Given the description of an element on the screen output the (x, y) to click on. 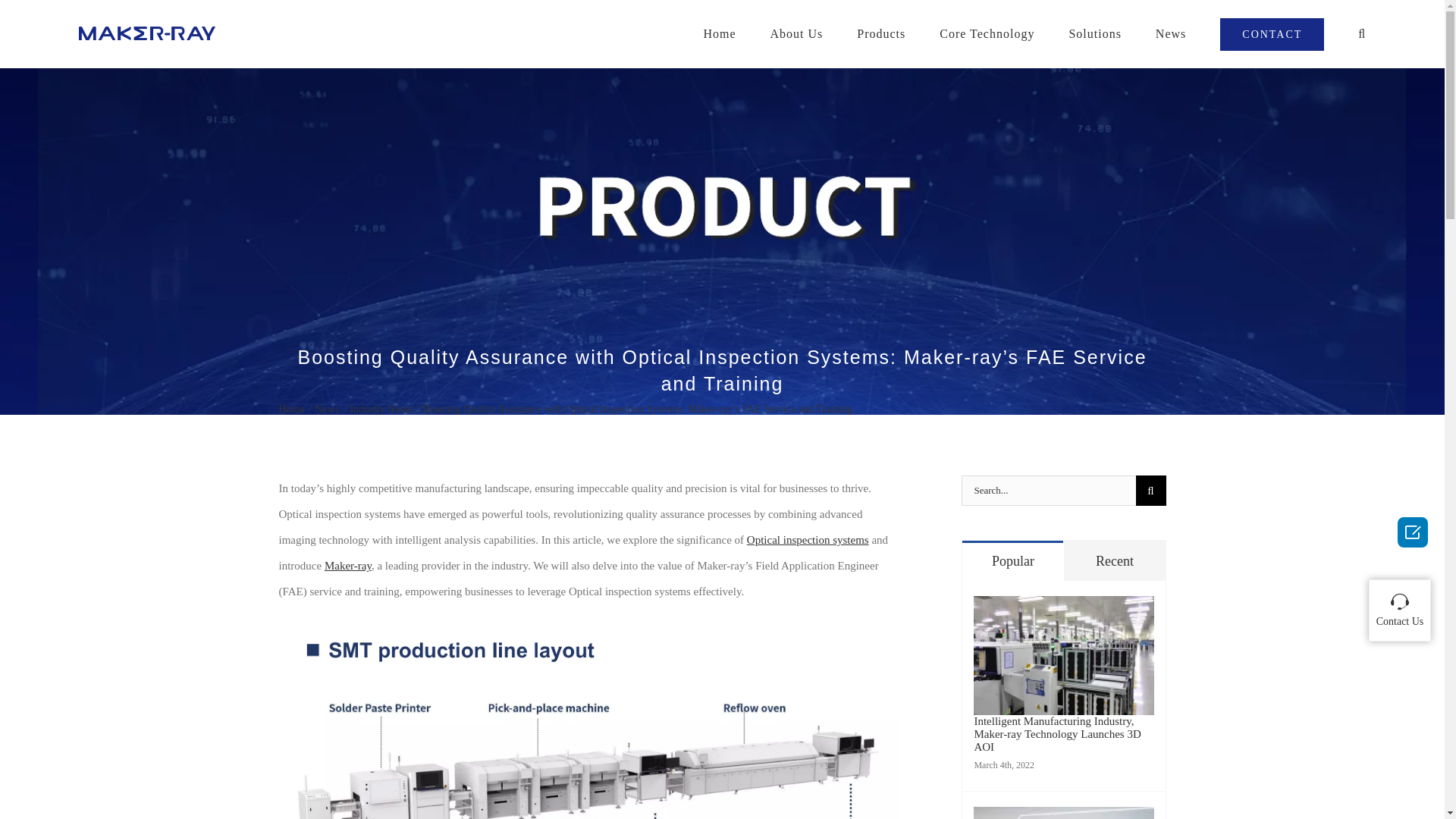
News (327, 409)
CONTACT (1271, 33)
Home (291, 409)
Core Technology (986, 33)
